Given the description of an element on the screen output the (x, y) to click on. 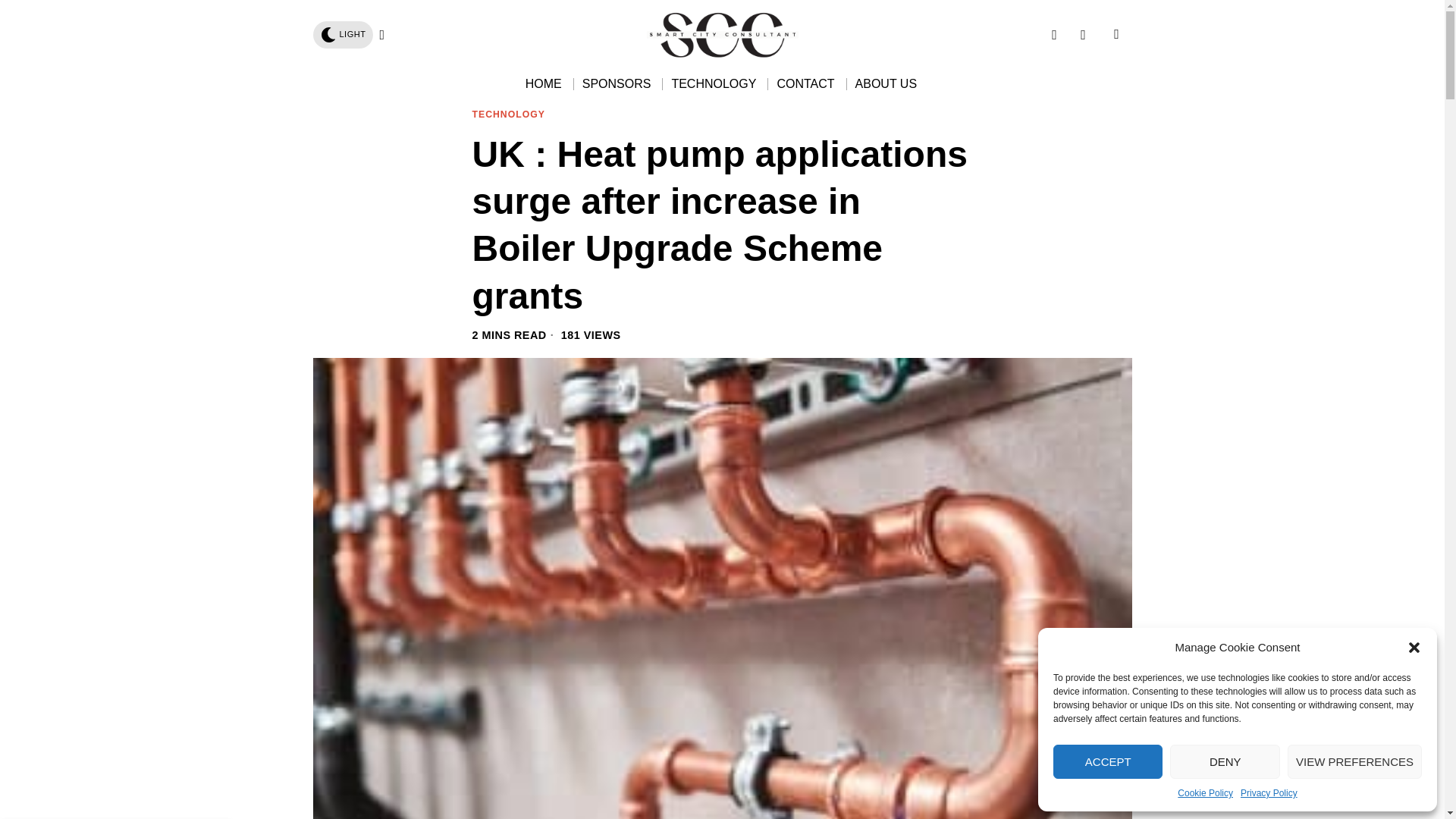
DENY (1224, 761)
ACCEPT (1106, 761)
ABOUT US (886, 83)
HOME (544, 83)
TECHNOLOGY (714, 83)
VIEW PREFERENCES (1354, 761)
Privacy Policy (1268, 793)
SPONSORS (617, 83)
CONTACT (806, 83)
TECHNOLOGY (507, 115)
Cookie Policy (1205, 793)
